Given the description of an element on the screen output the (x, y) to click on. 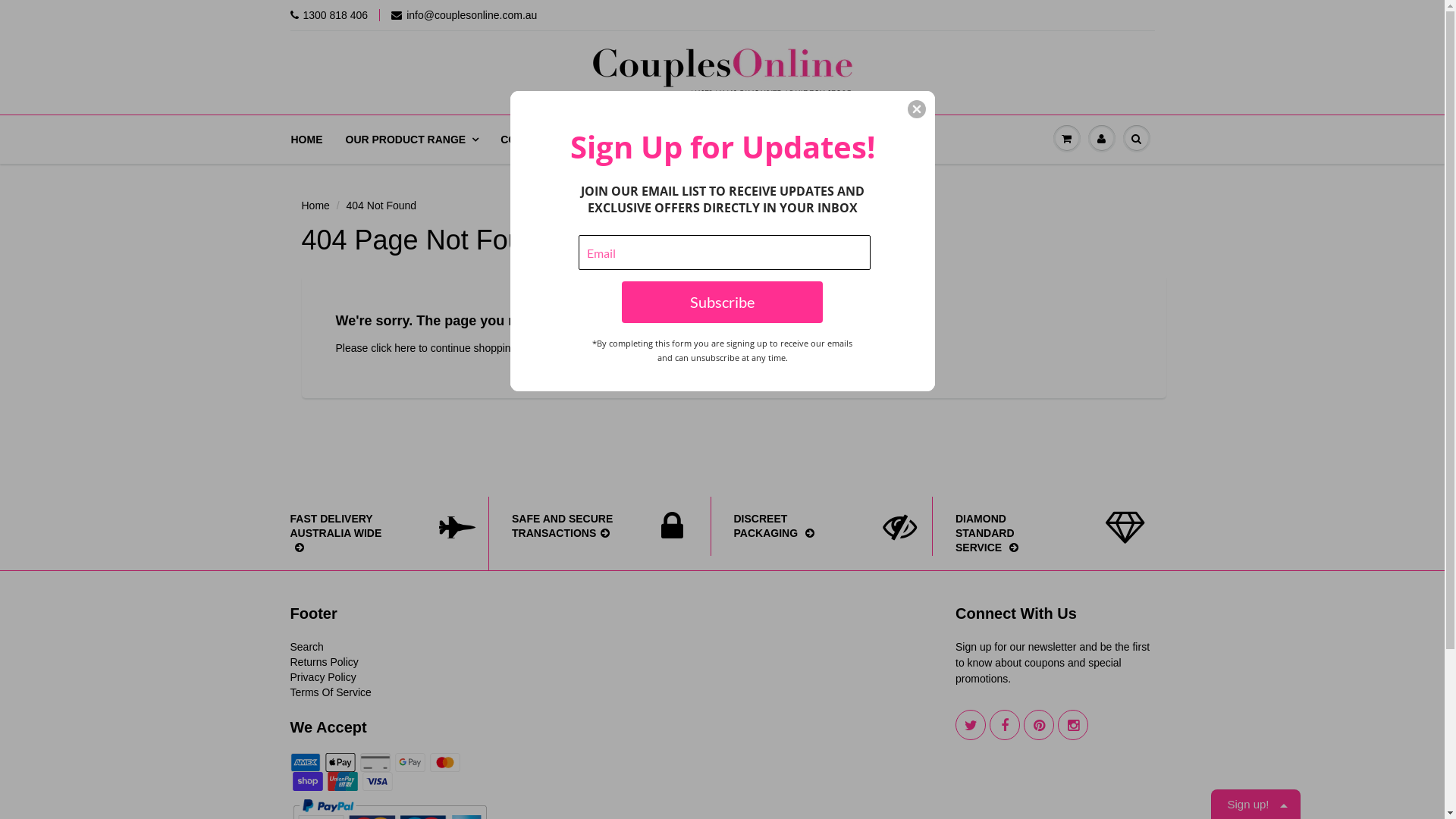
Returns Policy Element type: text (323, 661)
OUR FRIENDS Element type: text (628, 139)
Privacy Policy Element type: text (322, 677)
Instagram Element type: hover (1072, 724)
Twitter Element type: hover (970, 724)
DISCREET PACKAGING Element type: text (810, 525)
Facebook Element type: hover (1004, 724)
here Element type: text (404, 348)
HOME Element type: text (312, 139)
Home Element type: text (315, 205)
OUR PRODUCT RANGE Element type: text (411, 139)
Pinterest Element type: hover (1038, 724)
Terms Of Service Element type: text (329, 692)
info@couplesonline.com.au Element type: text (463, 15)
FAST DELIVERY AUSTRALIA WIDE Element type: text (365, 533)
1300 818 406 Element type: text (328, 15)
SAFE AND SECURE TRANSACTIONS Element type: text (588, 525)
DIAMOND STANDARD SERVICE Element type: text (1032, 533)
Search Element type: text (306, 646)
CONTACT US Element type: text (534, 139)
